Given the description of an element on the screen output the (x, y) to click on. 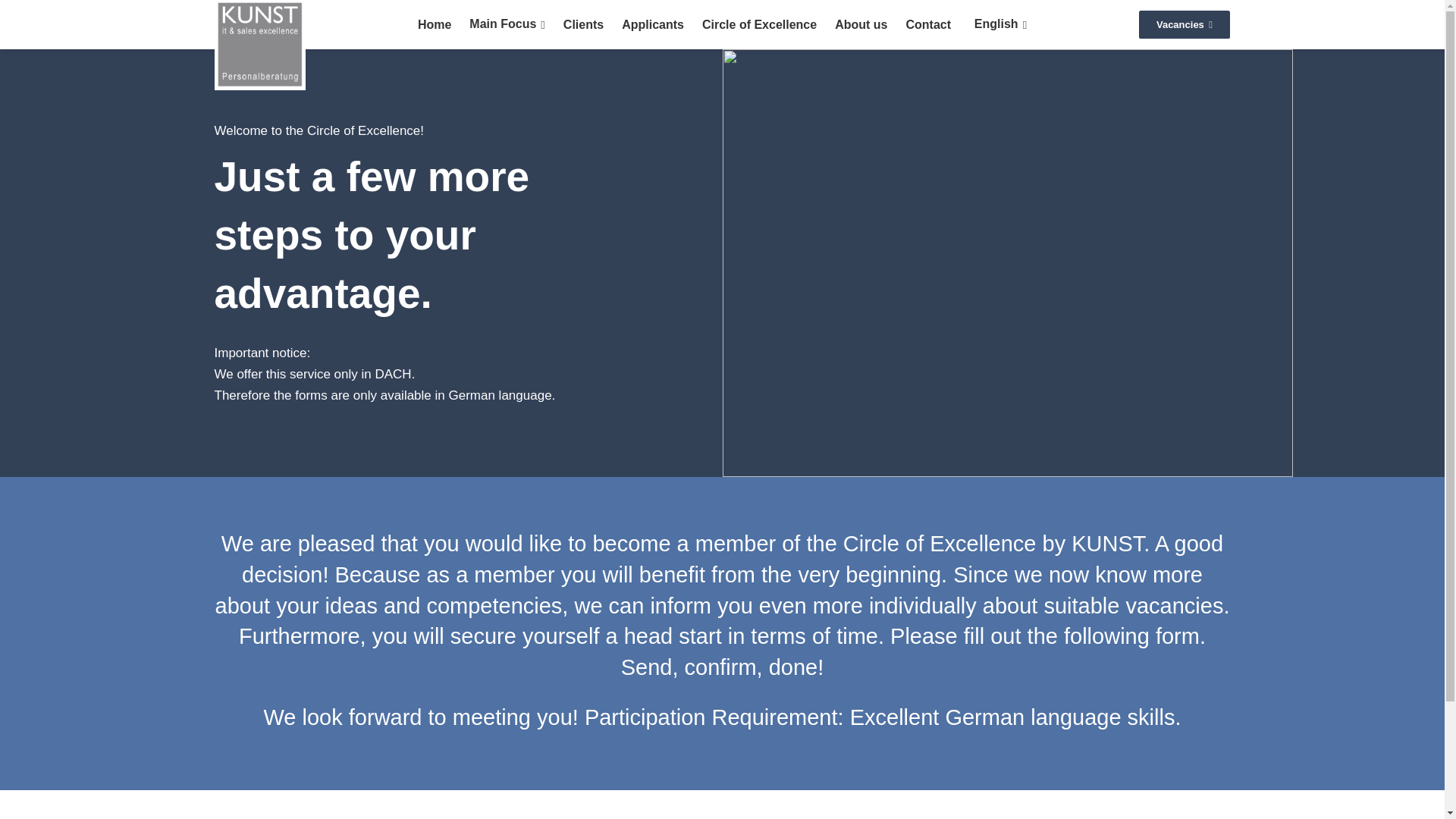
English (997, 24)
Home (434, 24)
Contact (927, 24)
Applicants (652, 24)
Clients (583, 24)
Circle of Excellence (759, 24)
About us (860, 24)
English (997, 24)
Main Focus (507, 24)
Vacancies (1184, 23)
